Given the description of an element on the screen output the (x, y) to click on. 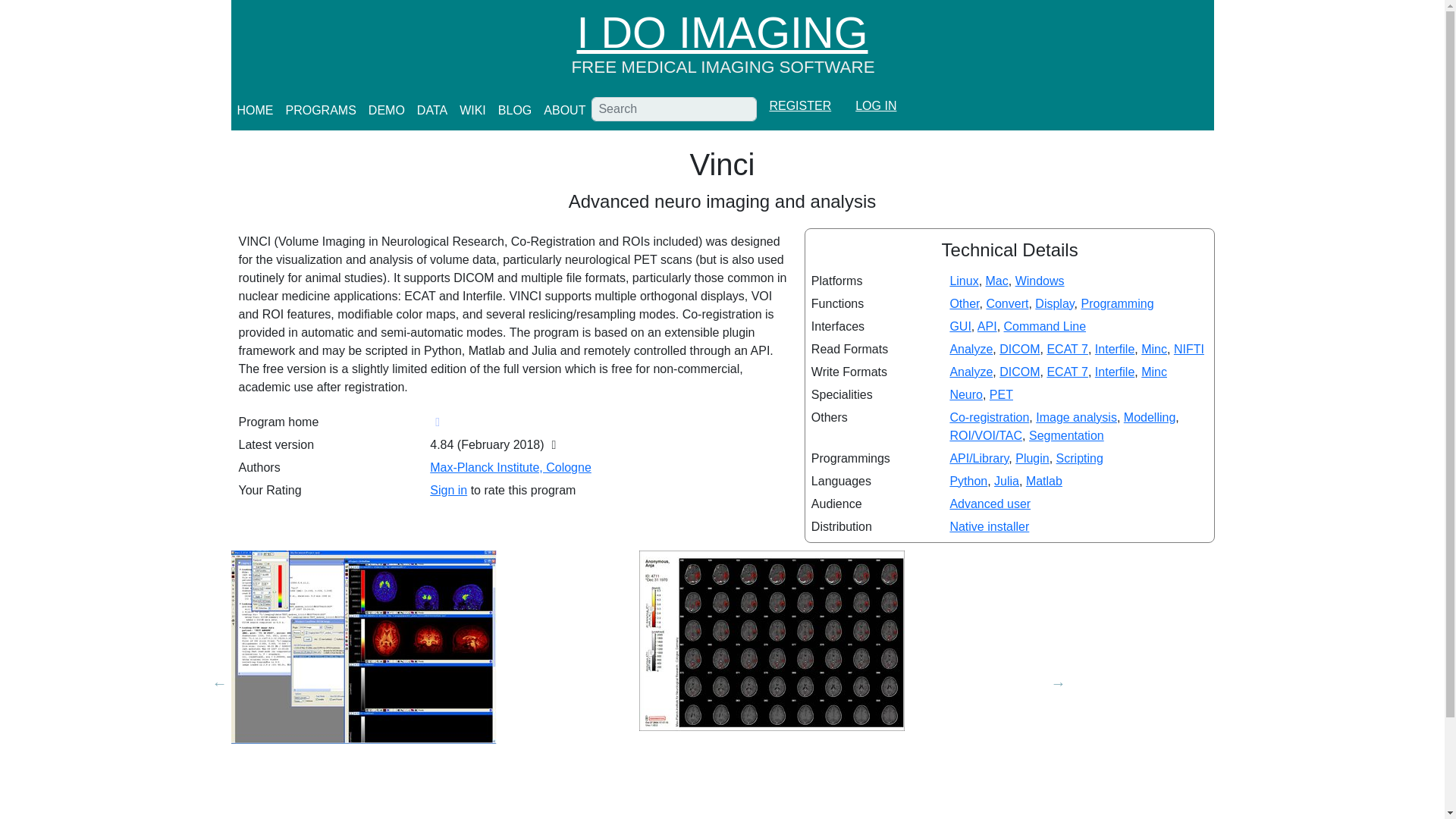
Mac (997, 280)
DEMO (386, 110)
NIFTI (1188, 349)
Other (963, 303)
ABOUT (564, 110)
Minc (1154, 371)
ECAT 7 (1066, 371)
DICOM (1018, 371)
BLOG (514, 110)
API (986, 326)
Max-Planck Institute, Cologne (510, 467)
Display (1054, 303)
REGISTER (800, 105)
Minc (1154, 349)
PROGRAMS (320, 110)
